Given the description of an element on the screen output the (x, y) to click on. 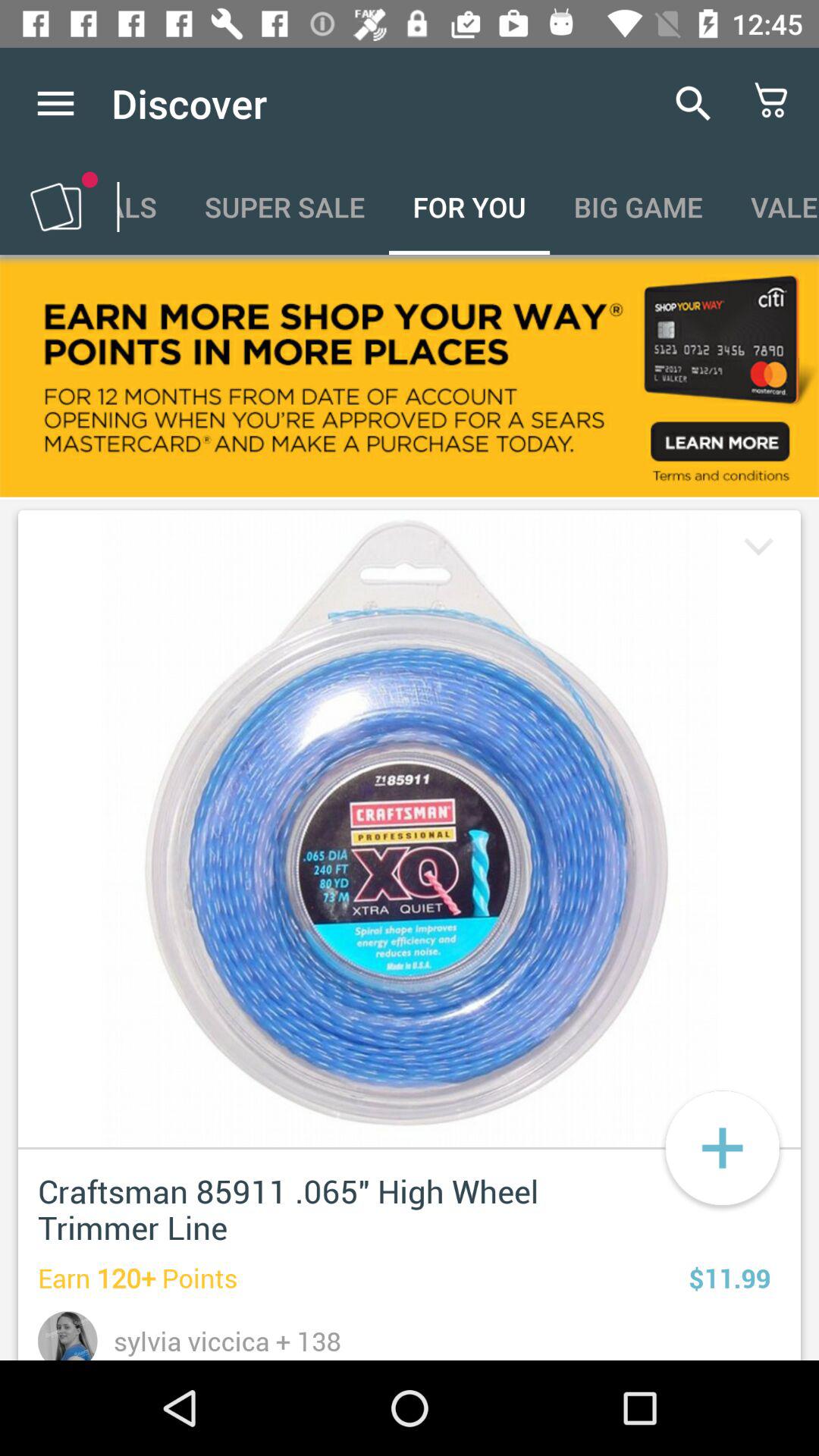
down (755, 549)
